Given the description of an element on the screen output the (x, y) to click on. 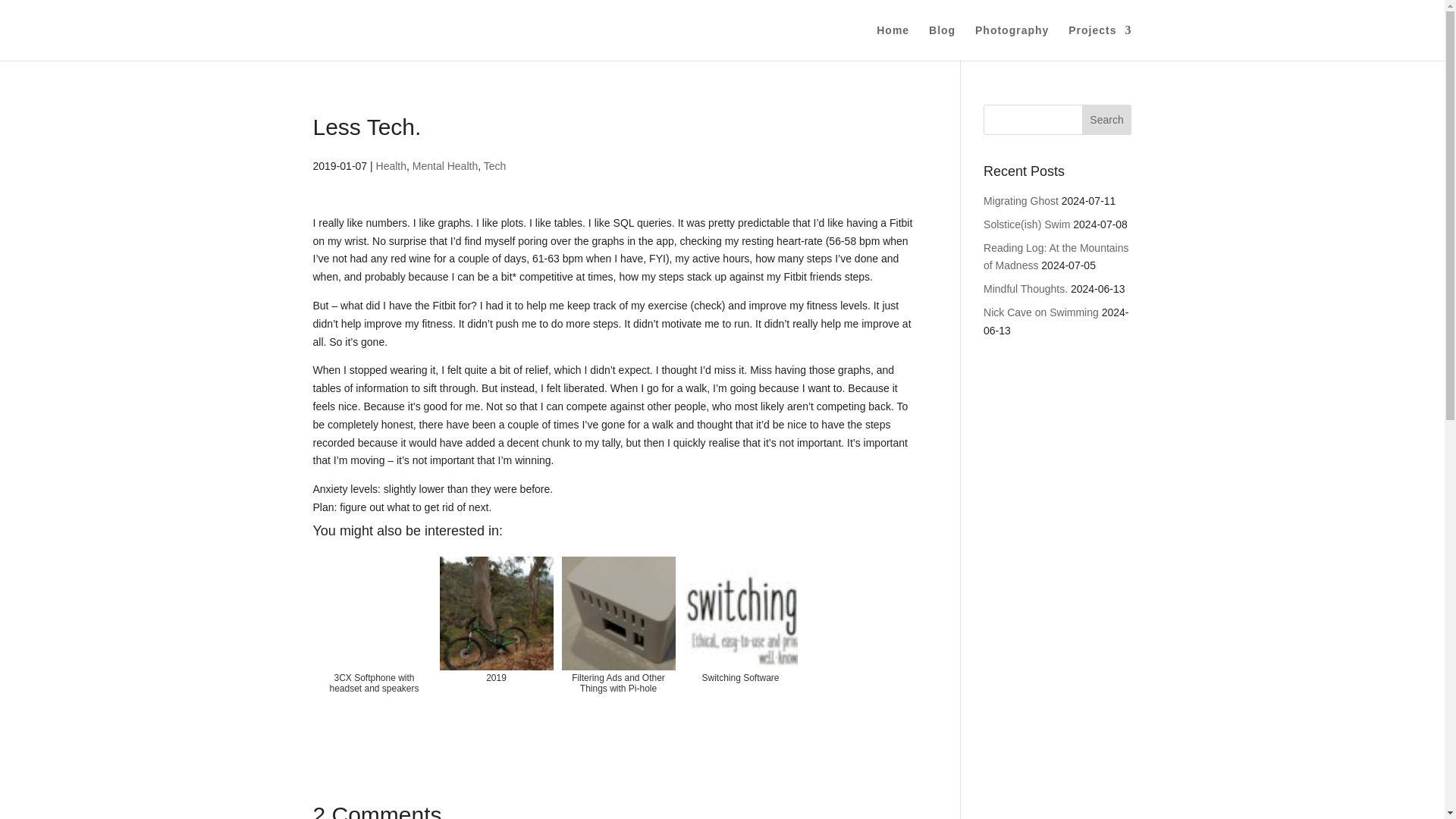
Nick Cave on Swimming (1041, 312)
Projects (1099, 42)
3CX Softphone with headset and speakers (374, 642)
Migrating Ghost (1021, 200)
Blog (941, 42)
Tech (494, 165)
Search (1106, 119)
Mindful Thoughts. (1025, 288)
2019 (496, 642)
Reading Log: At the Mountains of Madness (1056, 256)
Switching Software (740, 642)
Search (1106, 119)
Mental Health (444, 165)
Home (892, 42)
Health (390, 165)
